Given the description of an element on the screen output the (x, y) to click on. 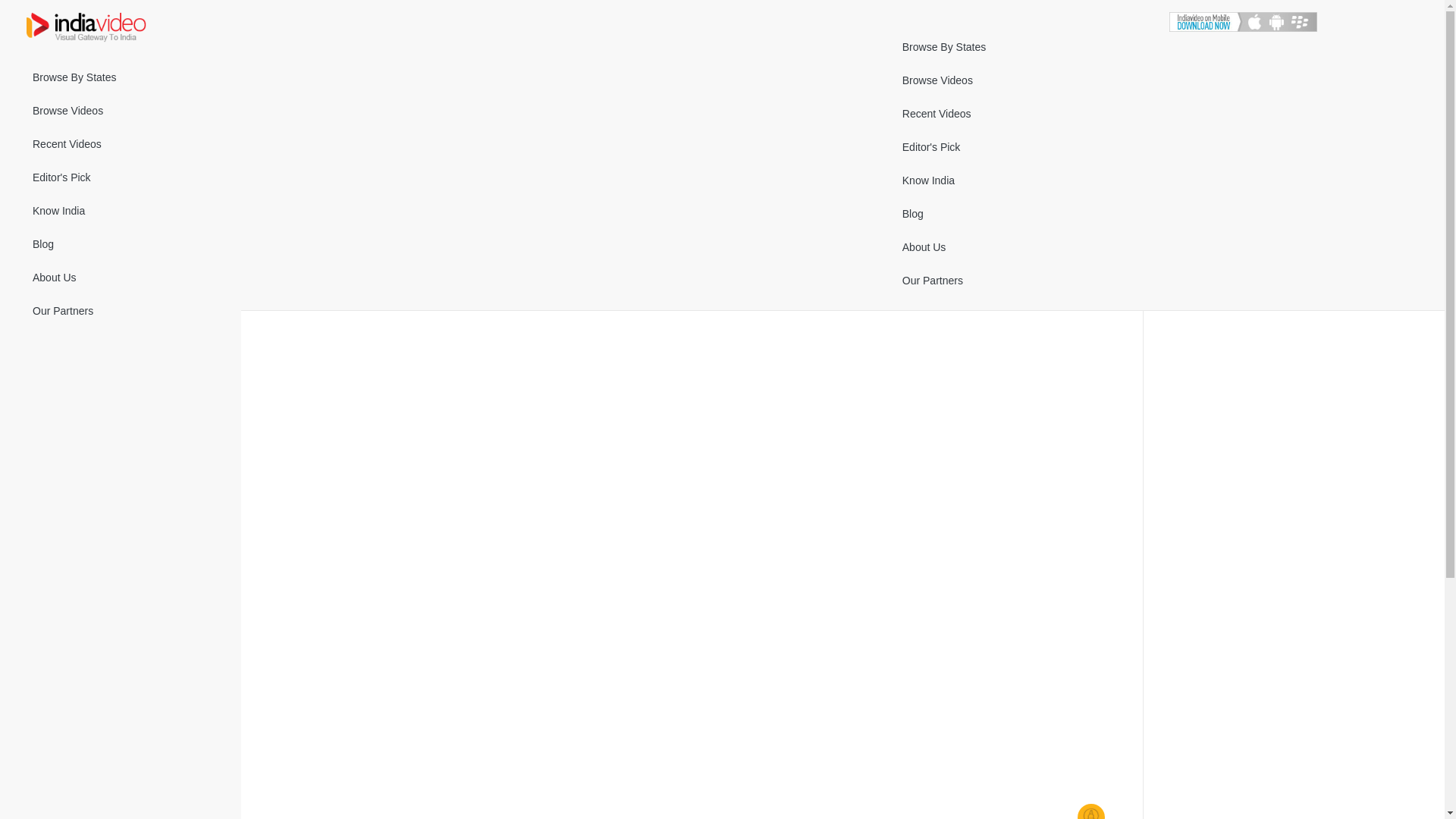
Browse Videos (120, 110)
Blog (120, 244)
Browse By States (120, 77)
Recent Videos (120, 144)
About Us (120, 277)
Editor's Pick (120, 177)
Know India (120, 211)
